Given the description of an element on the screen output the (x, y) to click on. 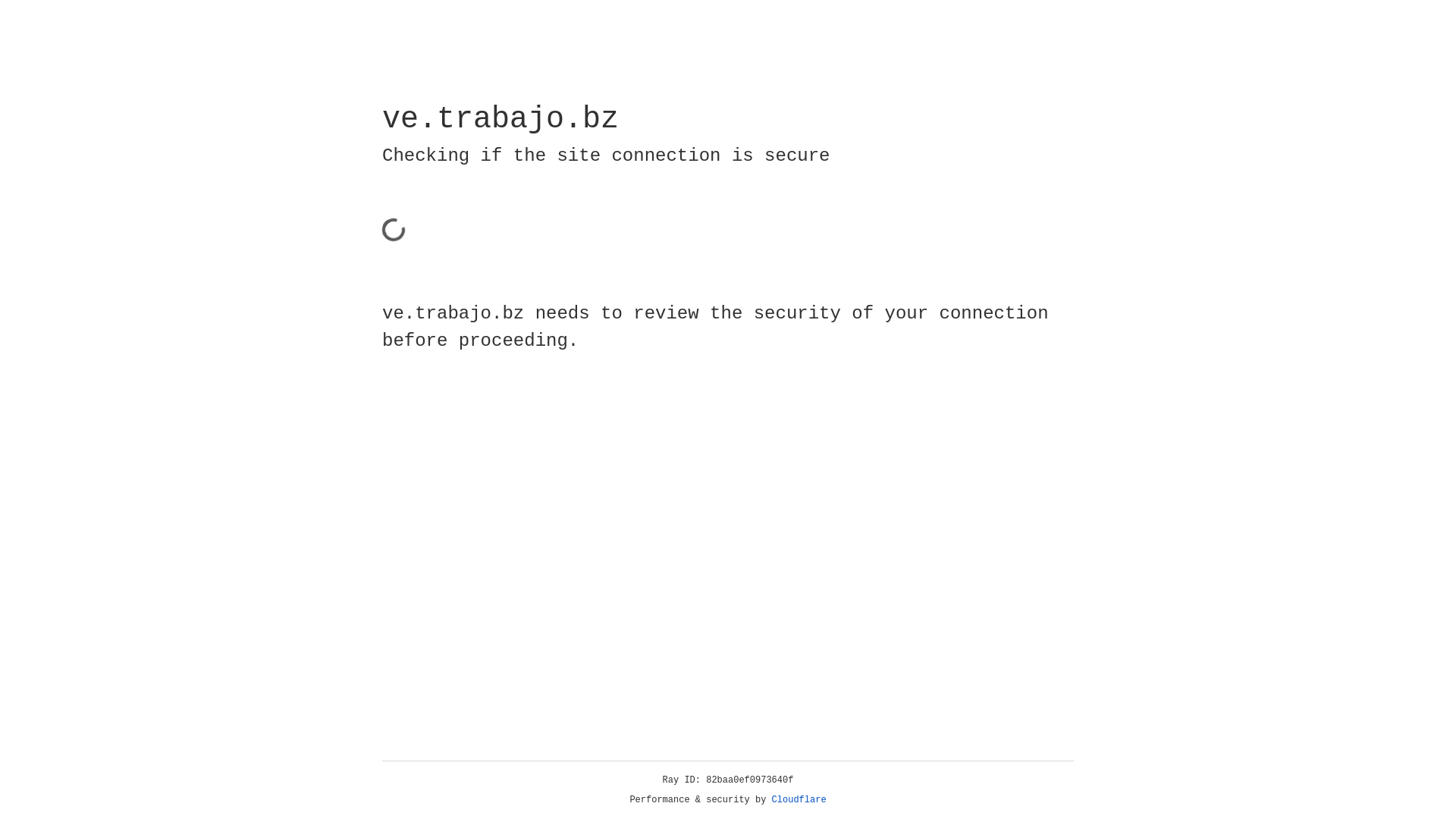
Cloudflare Element type: text (798, 799)
